Given the description of an element on the screen output the (x, y) to click on. 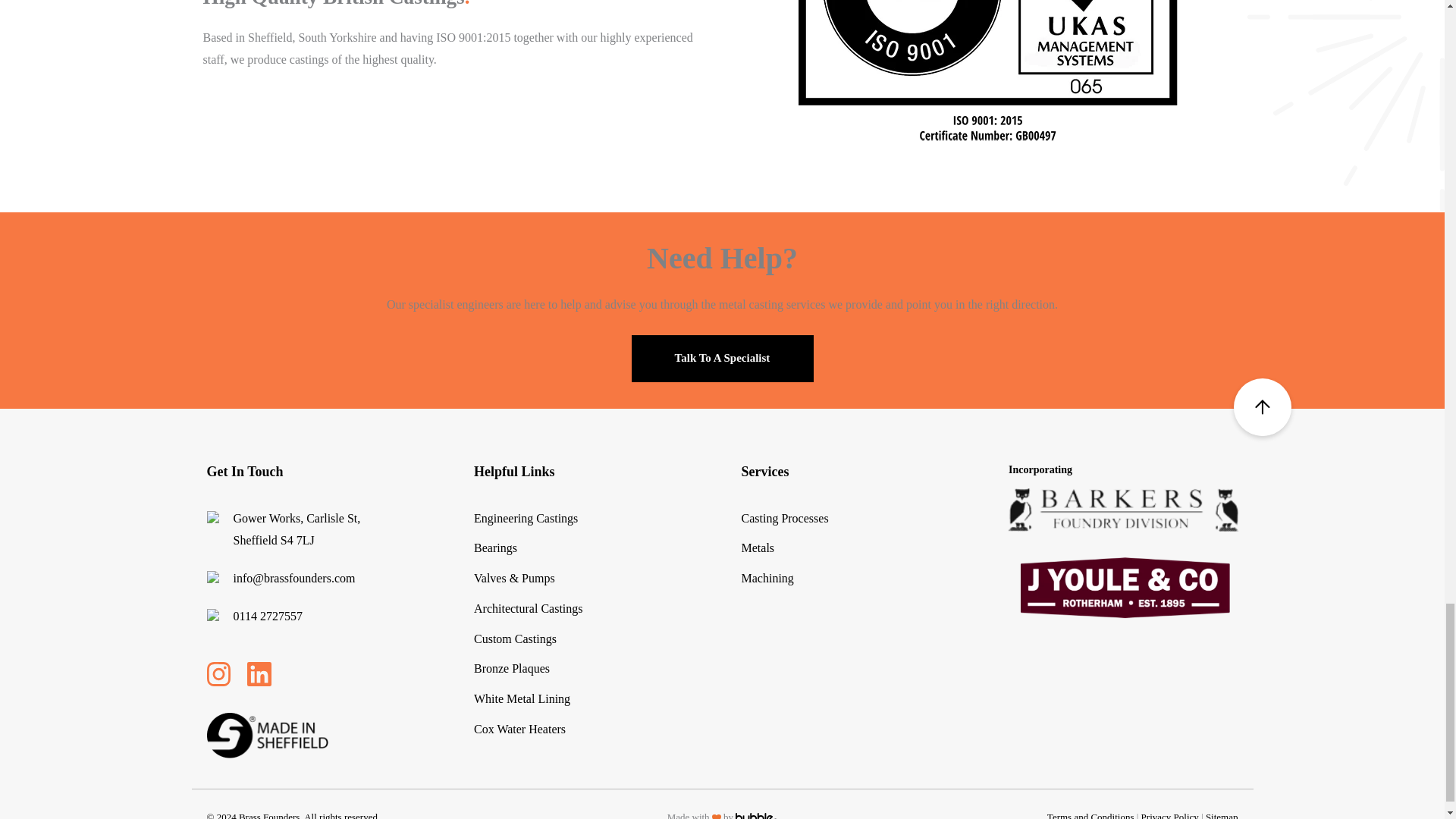
Talk To A Specialist (721, 358)
High Quality British Castings. (986, 72)
